Given the description of an element on the screen output the (x, y) to click on. 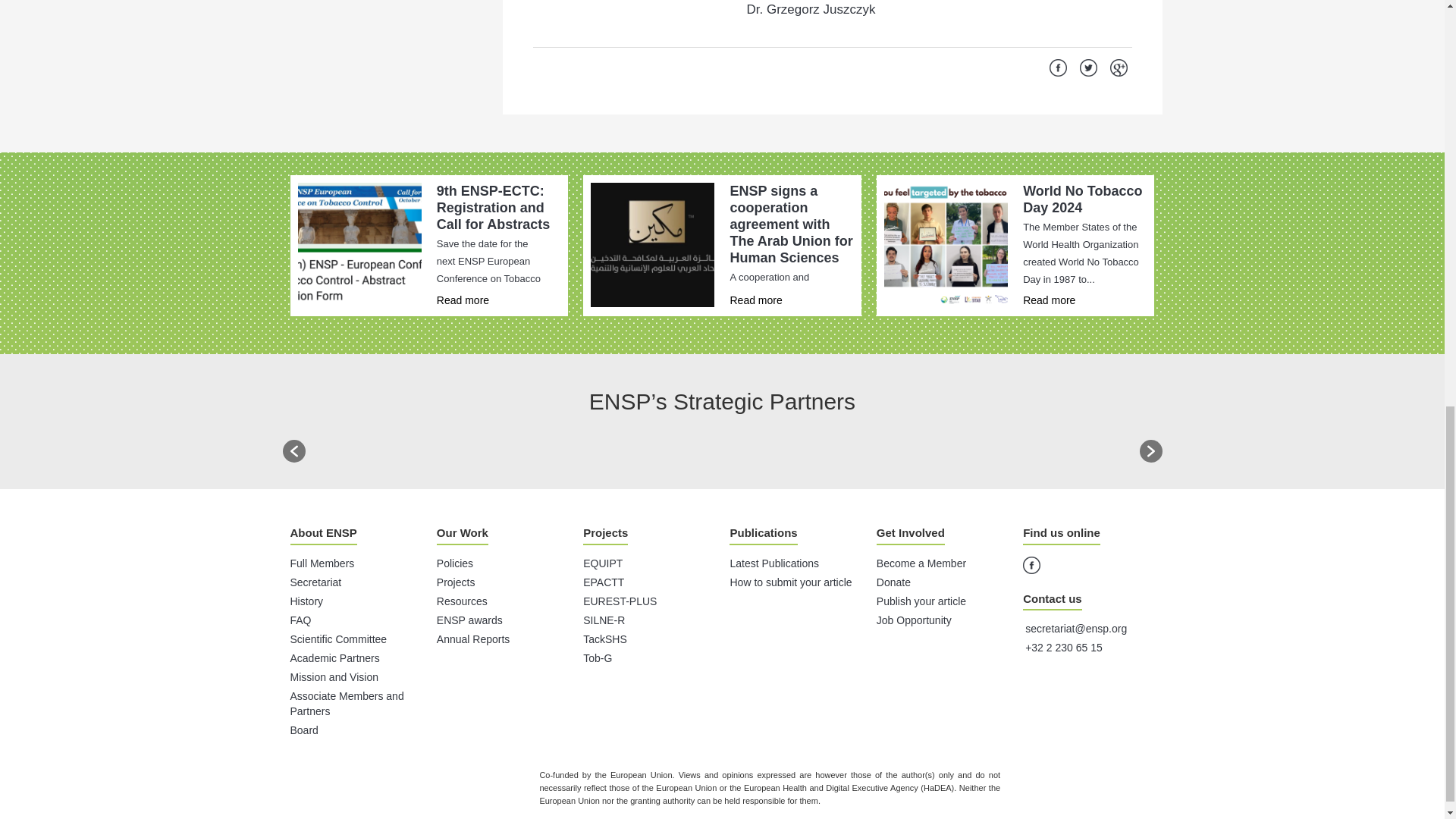
EQUIPT (603, 563)
ENSP awards (469, 620)
Associate Members and Partners (346, 703)
EUREST-PLUS (619, 601)
TackSHS (605, 639)
Academic Partners (333, 657)
Mission and Vision (333, 676)
Secretariat (314, 582)
Projects (456, 582)
Annual Reports (473, 639)
FAQ (300, 620)
Resources (461, 601)
Board (303, 729)
Policies (454, 563)
SILNE-R (603, 620)
